Given the description of an element on the screen output the (x, y) to click on. 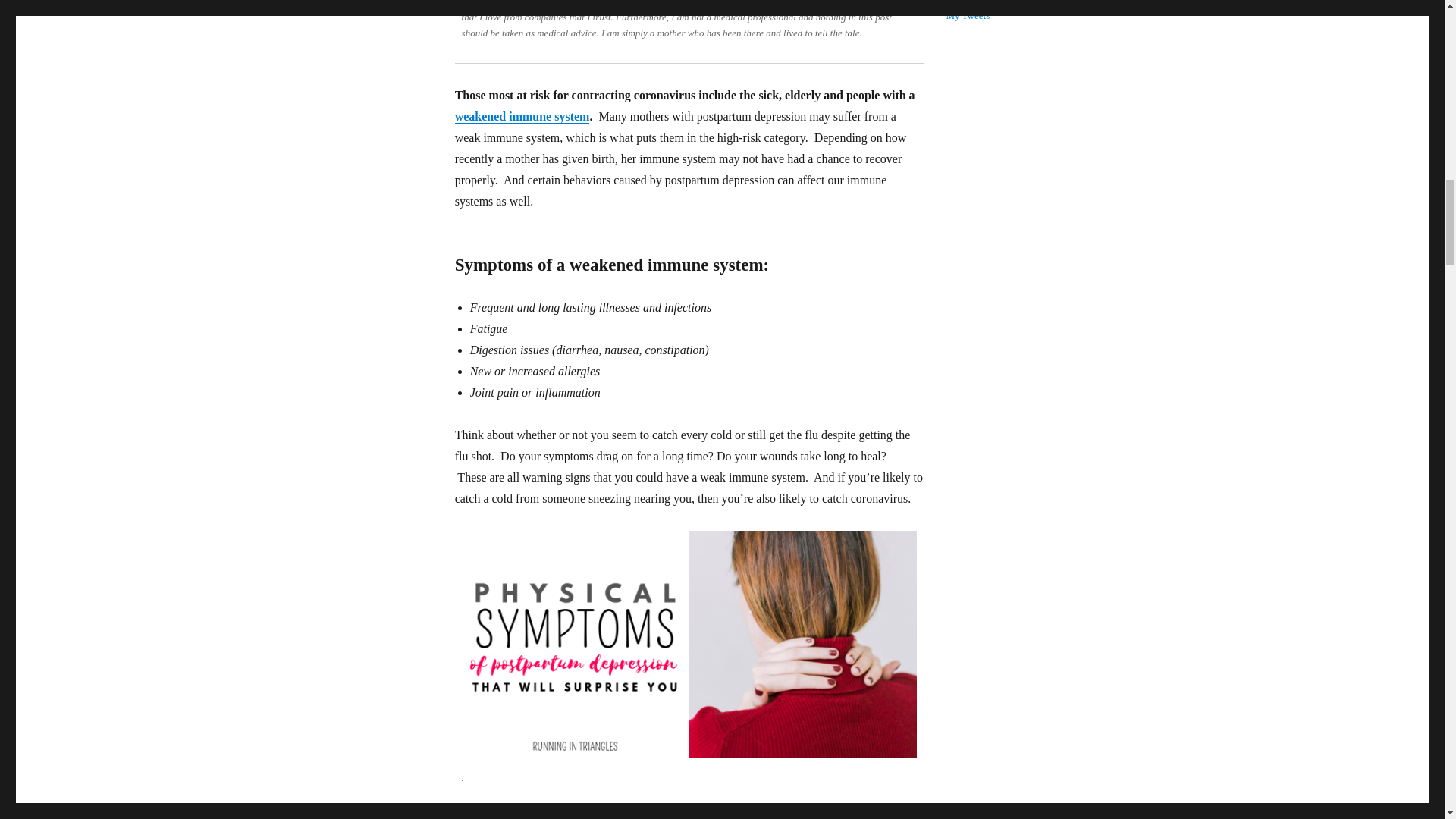
weakened immune system (521, 115)
